Given the description of an element on the screen output the (x, y) to click on. 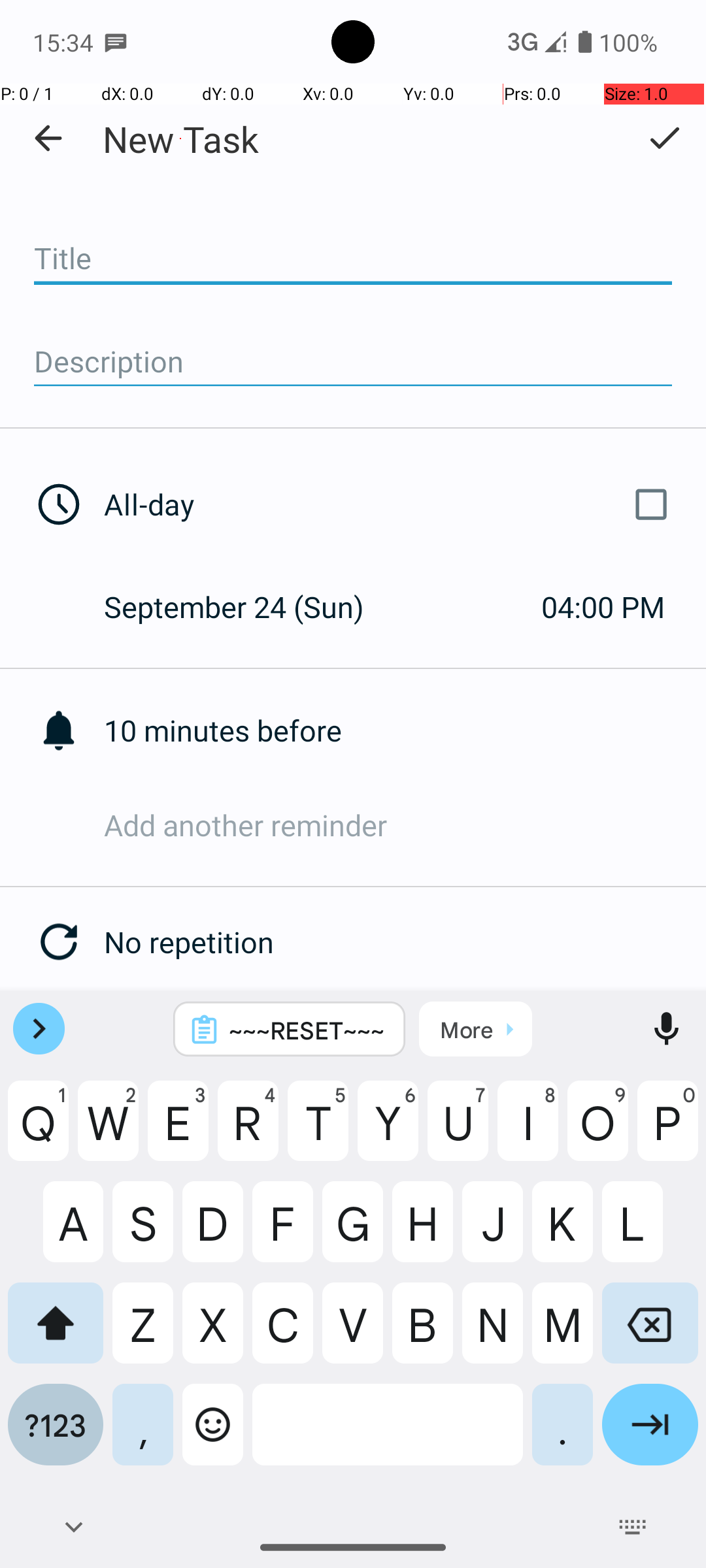
New Task Element type: android.widget.TextView (180, 138)
September 24 (Sun) Element type: android.widget.TextView (247, 606)
04:00 PM Element type: android.widget.TextView (602, 606)
10 minutes before Element type: android.widget.TextView (404, 729)
Add another reminder Element type: android.widget.TextView (404, 824)
